Given the description of an element on the screen output the (x, y) to click on. 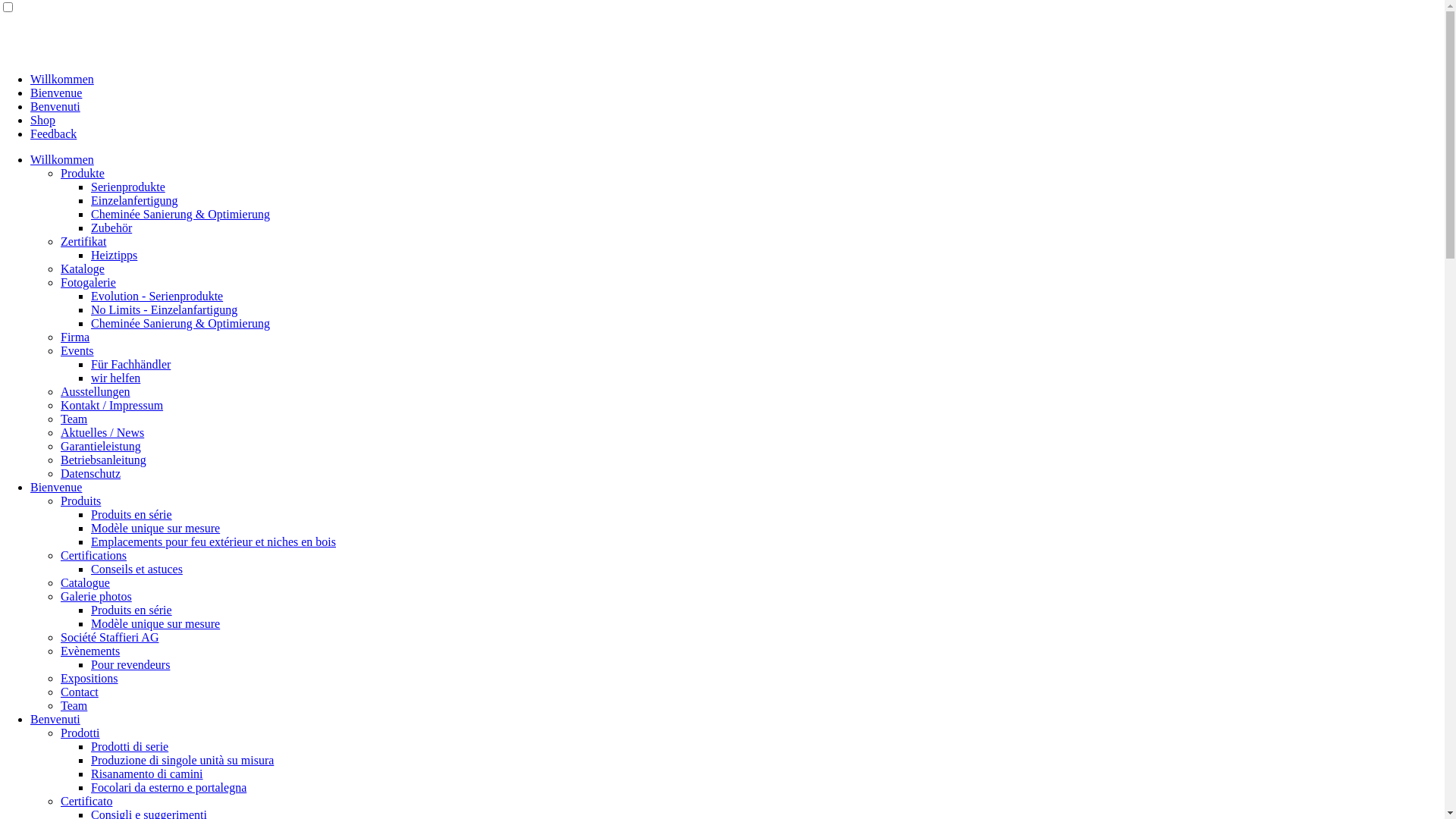
Prodotti Element type: text (80, 732)
Serienprodukte Element type: text (128, 186)
Betriebsanleitung Element type: text (103, 459)
Aktuelles / News Element type: text (102, 432)
Prodotti di serie Element type: text (129, 746)
wir helfen Element type: text (115, 377)
Conseils et astuces Element type: text (136, 568)
Feedback Element type: text (53, 133)
Produits Element type: text (80, 500)
Catalogue Element type: text (84, 582)
Expositions Element type: text (89, 677)
Bienvenue Element type: text (55, 486)
No Limits - Einzelanfartigung Element type: text (164, 309)
Certifications Element type: text (93, 555)
Shop Element type: text (42, 119)
Einzelanfertigung Element type: text (134, 200)
Evolution - Serienprodukte Element type: text (156, 295)
Produkte Element type: text (82, 172)
Events Element type: text (77, 350)
Risanamento di camini Element type: text (147, 773)
Team Element type: text (73, 705)
Garantieleistung Element type: text (100, 445)
Benvenuti Element type: text (55, 718)
Willkommen Element type: text (62, 78)
Galerie photos Element type: text (95, 595)
Bienvenue Element type: text (55, 92)
Willkommen Element type: text (62, 159)
Team Element type: text (73, 418)
Datenschutz Element type: text (90, 473)
Benvenuti Element type: text (55, 106)
Zertifikat Element type: text (83, 241)
Fotogalerie Element type: text (88, 282)
Kataloge Element type: text (82, 268)
Pour revendeurs Element type: text (130, 664)
Heiztipps Element type: text (114, 254)
Firma Element type: text (74, 336)
Focolari da esterno e portalegna Element type: text (168, 787)
Certificato Element type: text (86, 800)
Ausstellungen Element type: text (95, 391)
Kontakt / Impressum Element type: text (111, 404)
Contact Element type: text (79, 691)
